Given the description of an element on the screen output the (x, y) to click on. 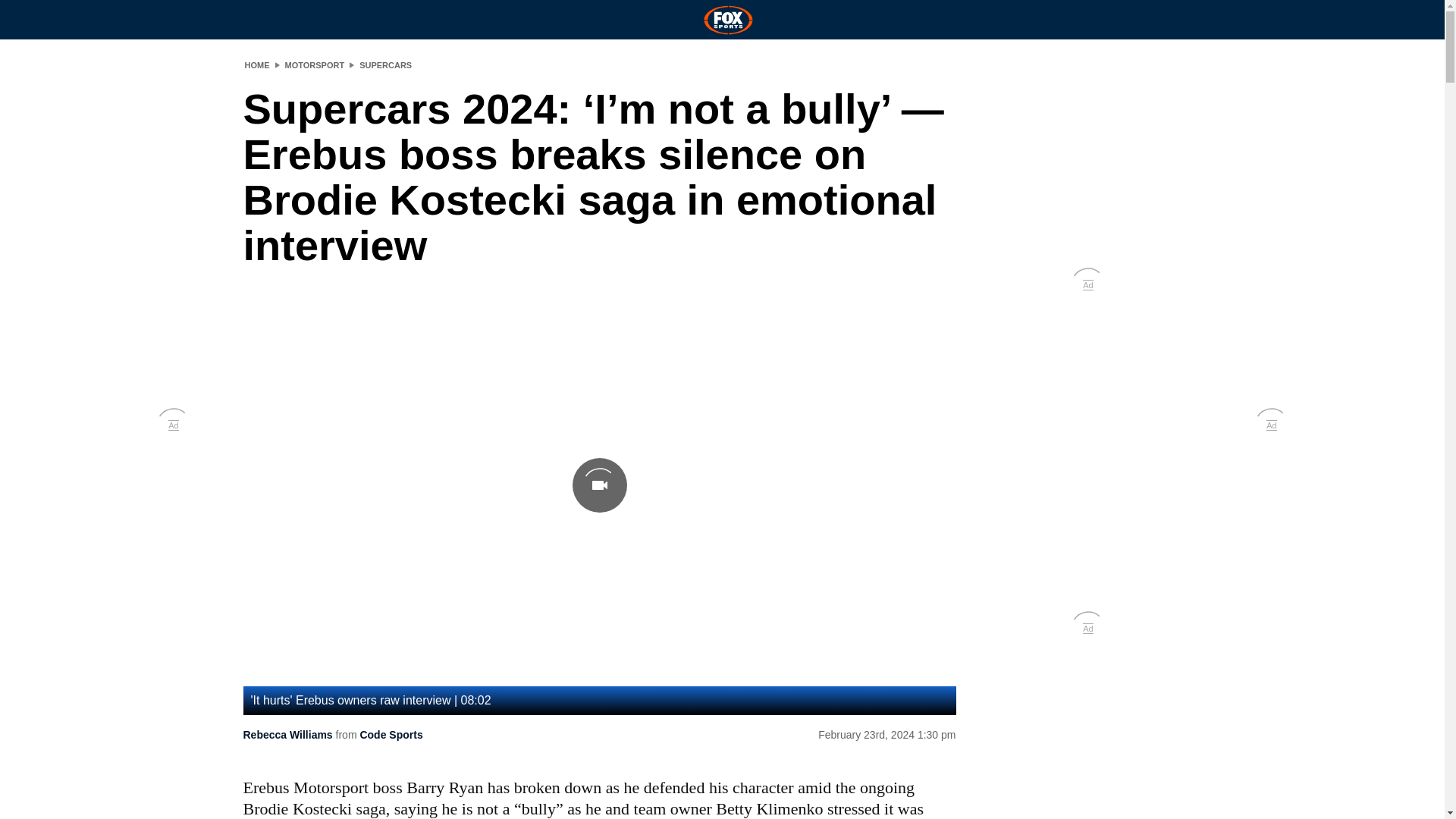
SUPERCARS (385, 64)
MOTORSPORT (314, 64)
HOME (256, 64)
